Given the description of an element on the screen output the (x, y) to click on. 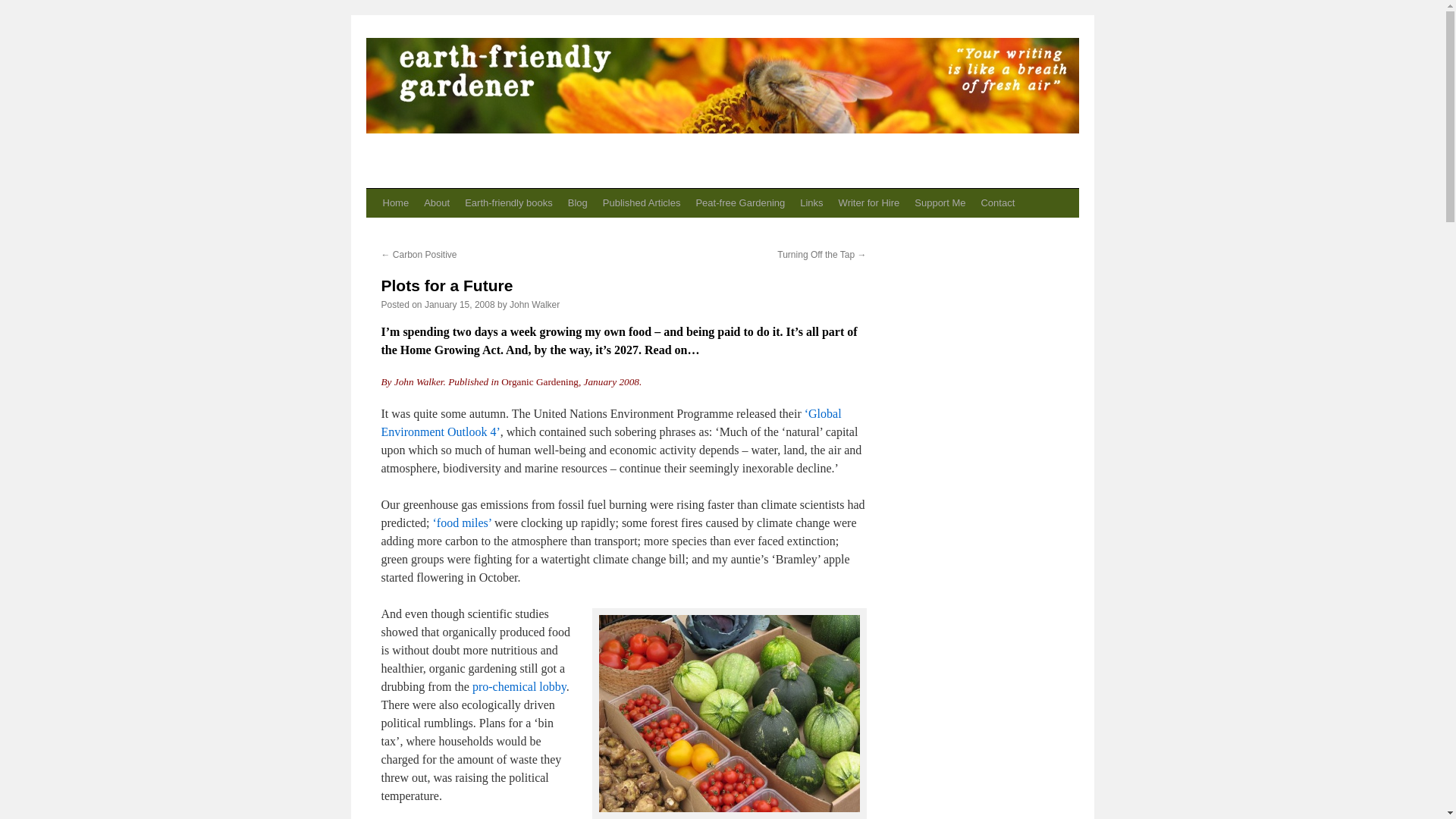
Peat-free Gardening (739, 203)
Links (810, 203)
Earth-friendly books (508, 203)
Home (395, 203)
Writer for Hire (869, 203)
3:00 pm (460, 304)
View all posts by John Walker (534, 304)
Support Me (939, 203)
Blog (577, 203)
Contact (997, 203)
About (436, 203)
January 15, 2008 (460, 304)
John Walker (534, 304)
pro-chemical lobby (518, 686)
